Given the description of an element on the screen output the (x, y) to click on. 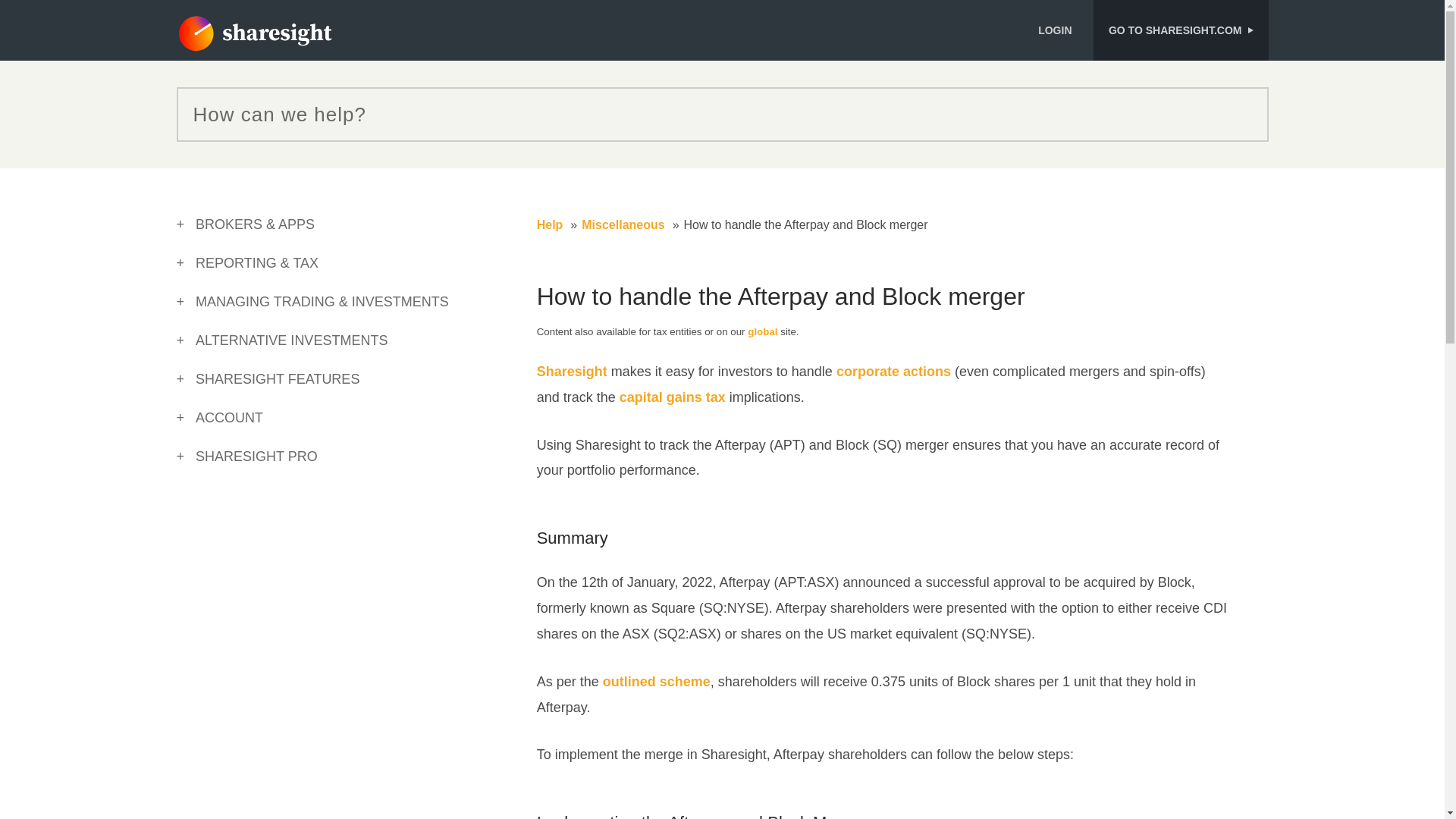
GO TO SHARESIGHT.COM (1180, 30)
Sharesight Australia Help (253, 34)
LOGIN (1060, 30)
